Given the description of an element on the screen output the (x, y) to click on. 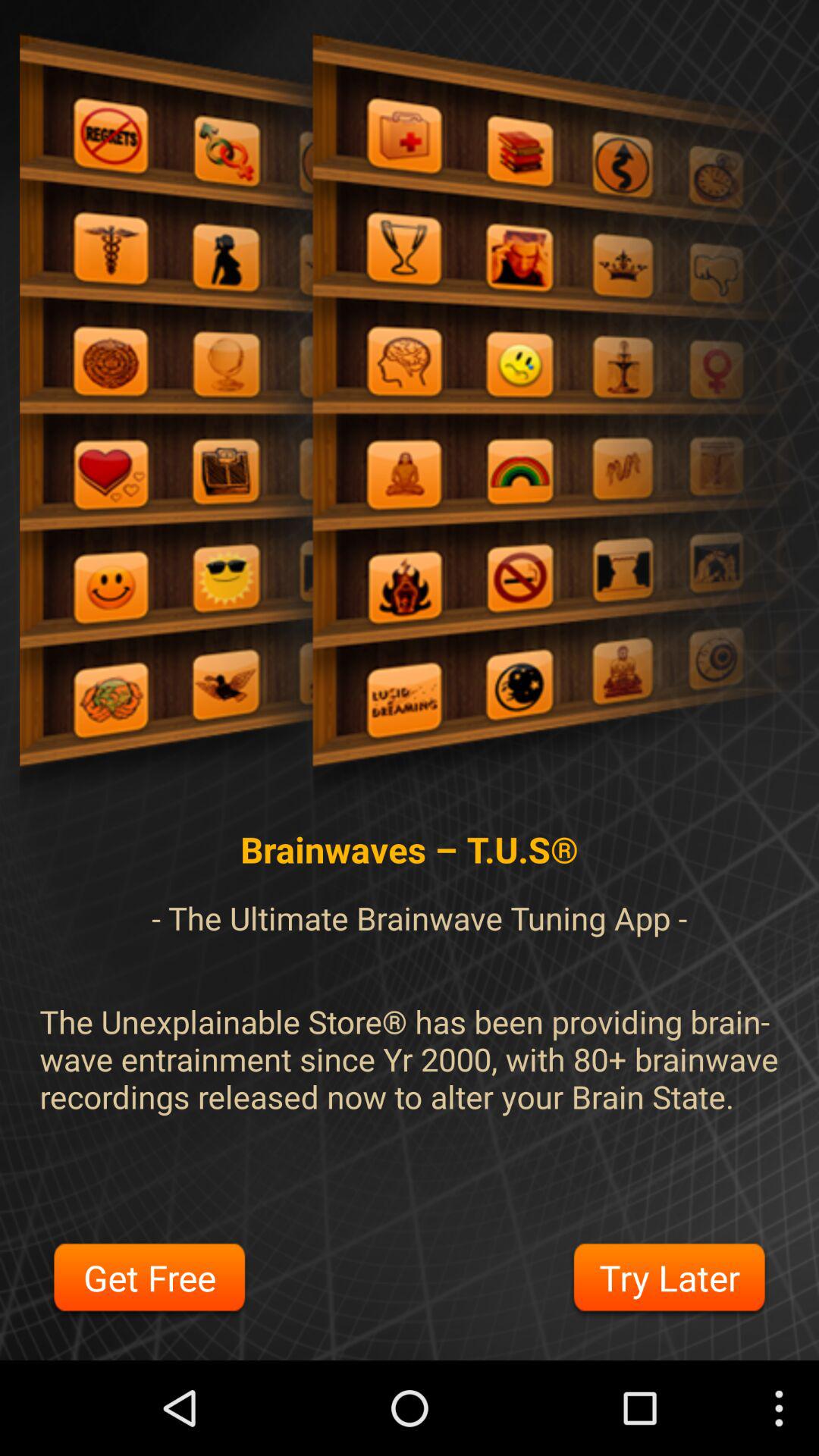
tap the try later at the bottom right corner (668, 1280)
